Given the description of an element on the screen output the (x, y) to click on. 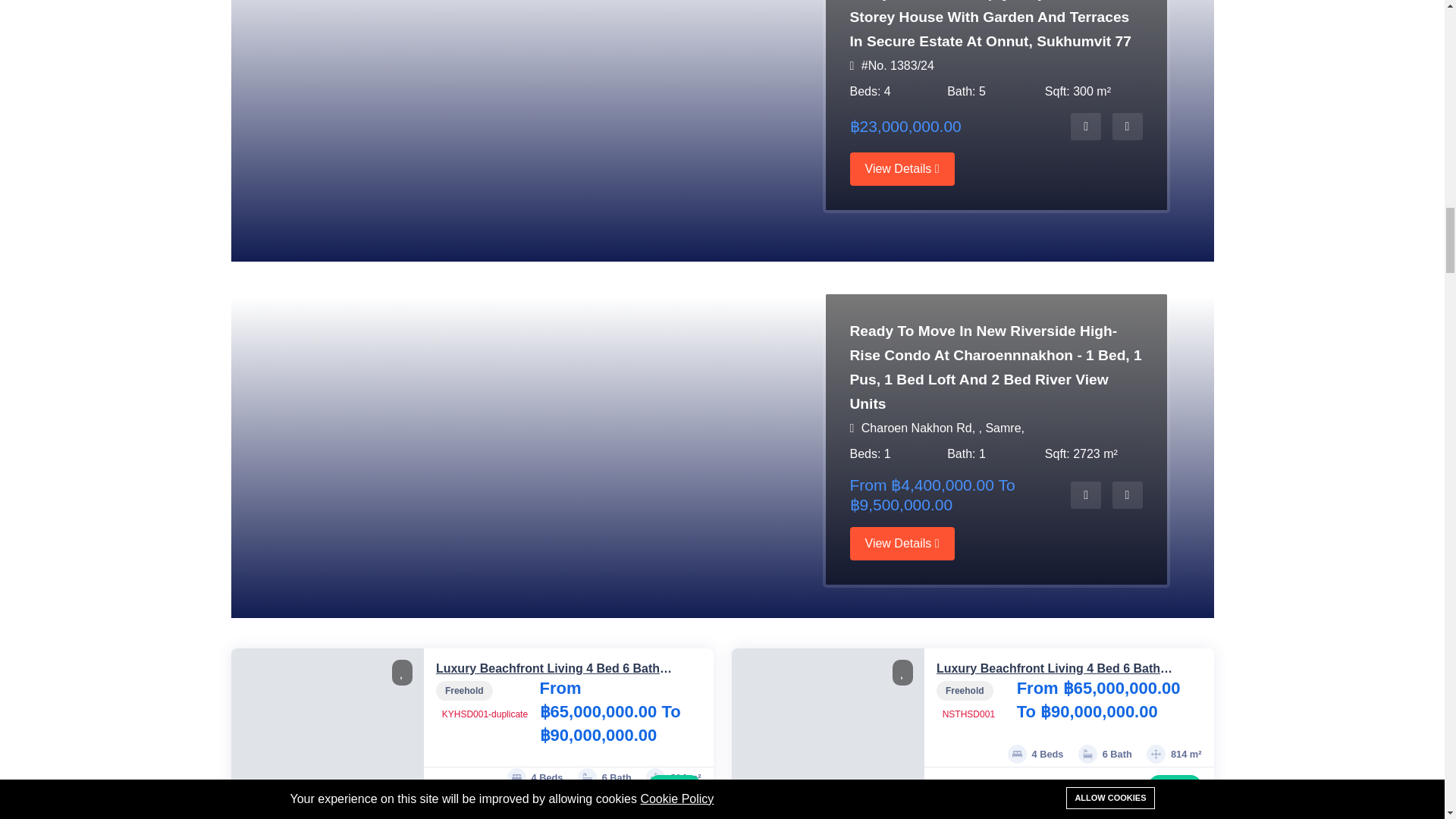
Sichon (1042, 787)
Sichon (541, 787)
